Given the description of an element on the screen output the (x, y) to click on. 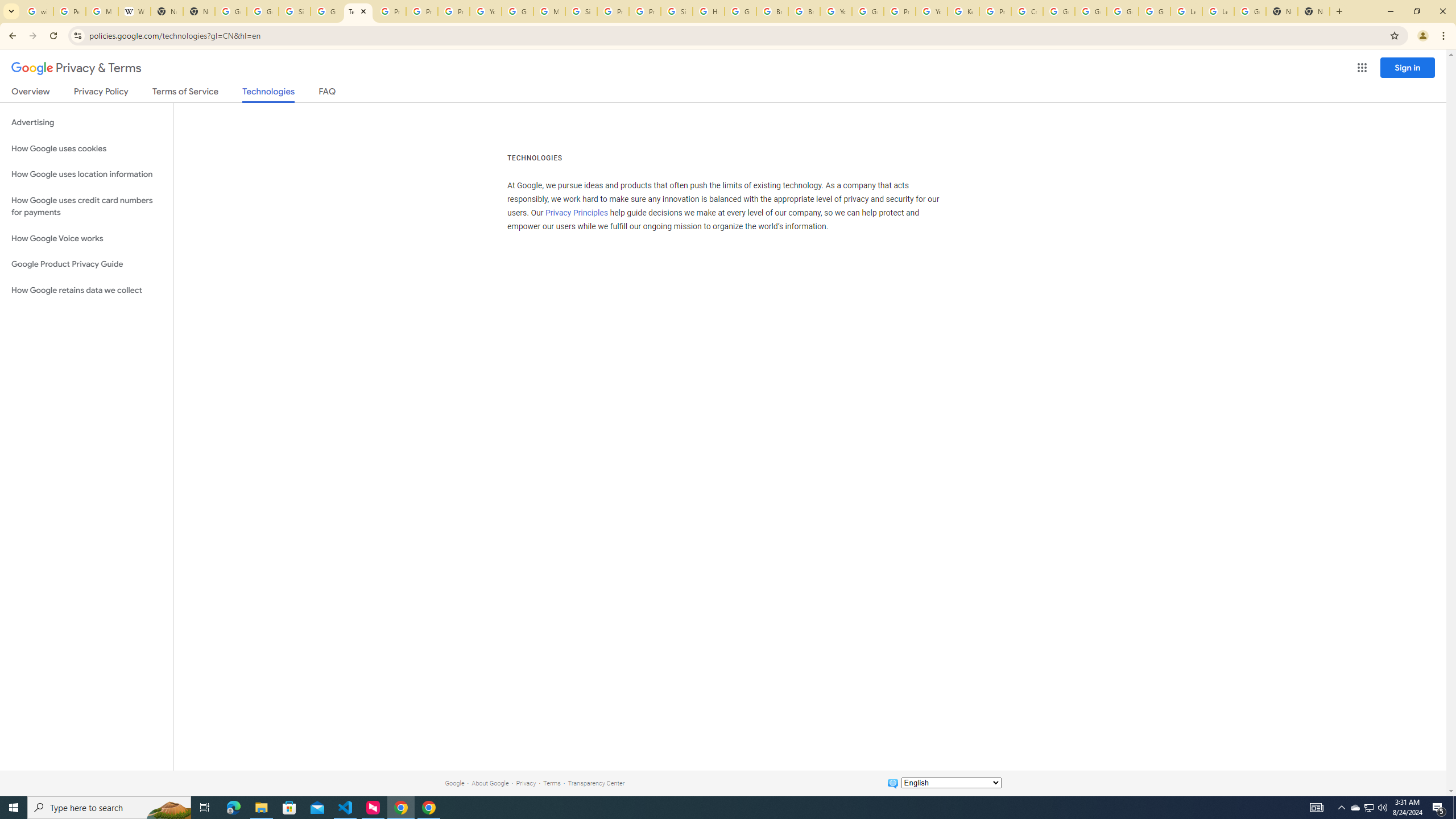
YouTube (931, 11)
Google Drive: Sign-in (262, 11)
Create your Google Account (1027, 11)
How Google uses location information (86, 174)
